Given the description of an element on the screen output the (x, y) to click on. 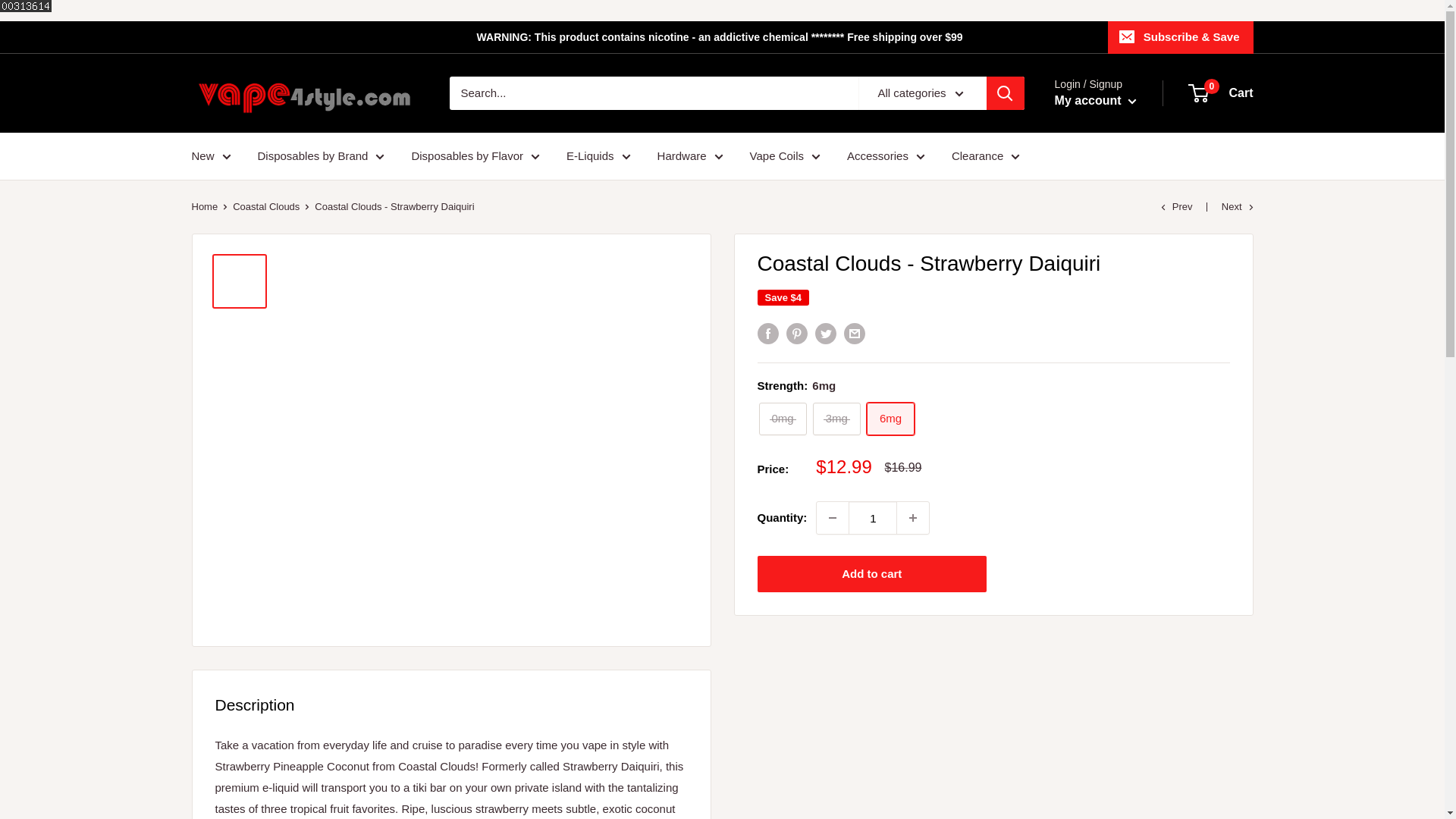
0mg (782, 418)
6mg (890, 418)
Decrease quantity by 1 (832, 517)
Increase quantity by 1 (912, 517)
3mg (836, 418)
1 (872, 517)
